Given the description of an element on the screen output the (x, y) to click on. 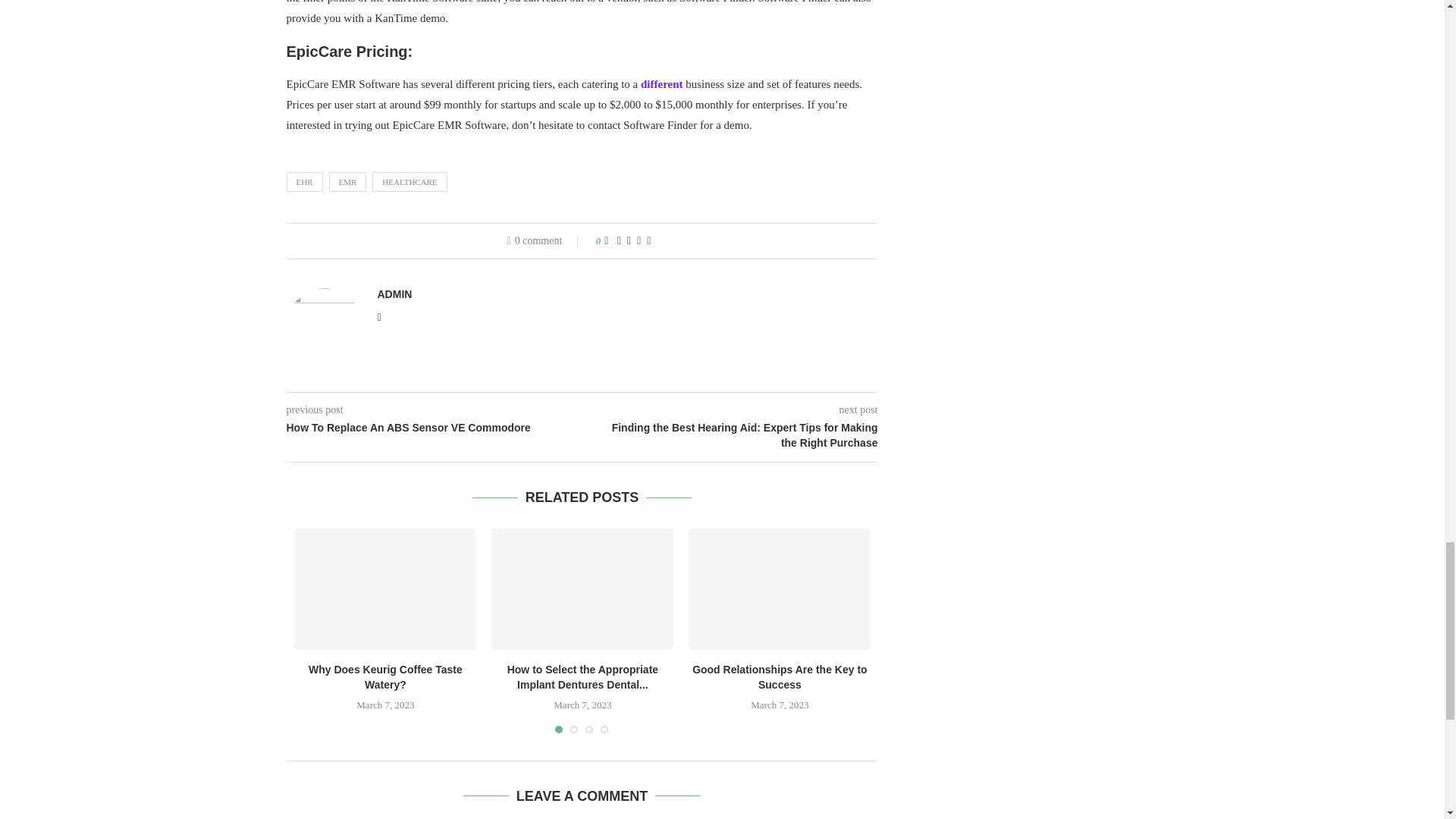
Good Relationships Are the Key to Success (779, 589)
Author admin (394, 294)
Like (606, 241)
Why Does Keurig Coffee Taste Watery? (385, 589)
